Given the description of an element on the screen output the (x, y) to click on. 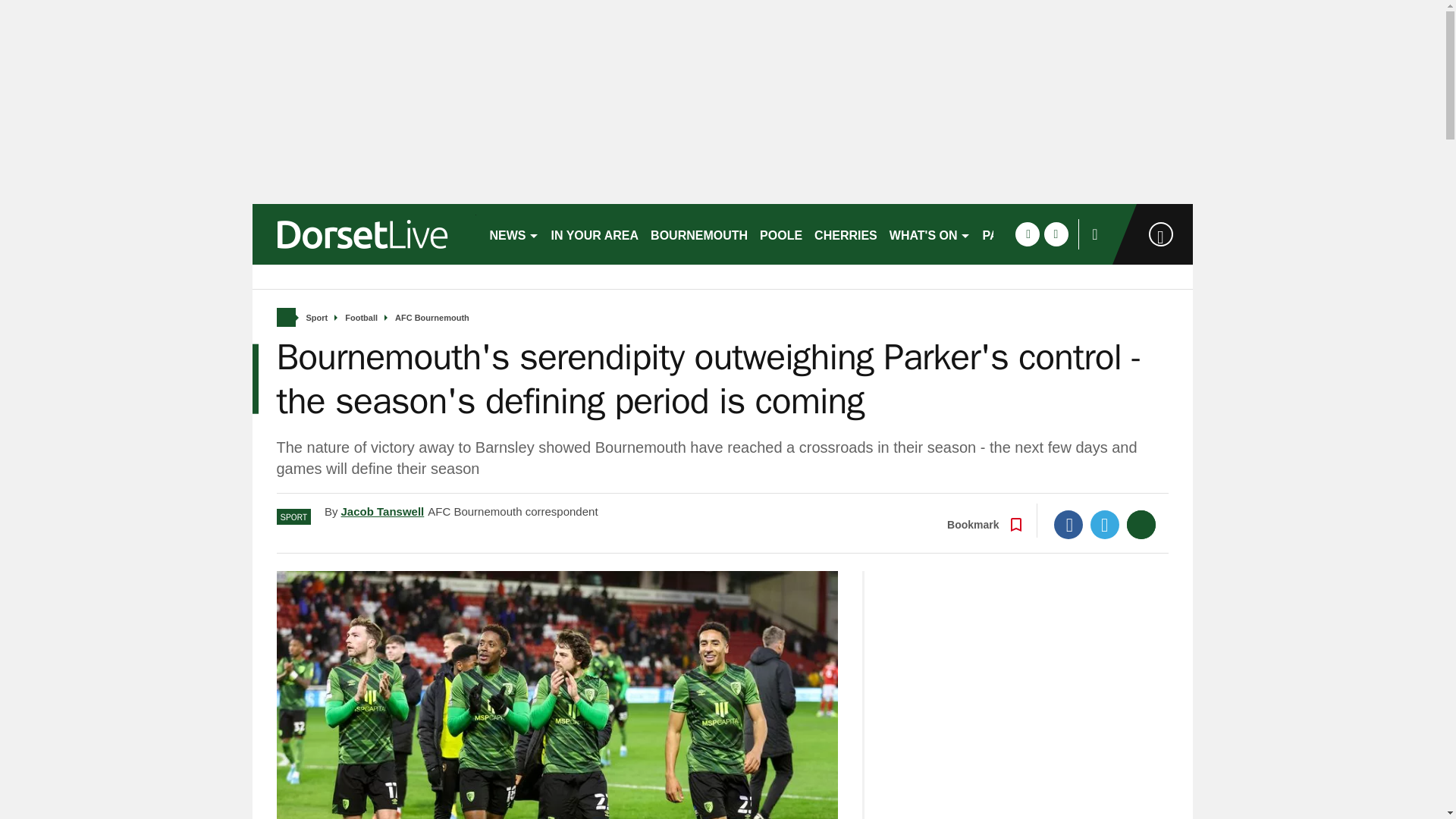
CHERRIES (845, 233)
WHAT'S ON (929, 233)
Twitter (1104, 524)
NEWS (513, 233)
Facebook (1068, 524)
dorsetlive (363, 233)
BOURNEMOUTH (699, 233)
POOLE (781, 233)
facebook (1026, 233)
IN YOUR AREA (594, 233)
PARTNER STORIES (1039, 233)
twitter (1055, 233)
